Given the description of an element on the screen output the (x, y) to click on. 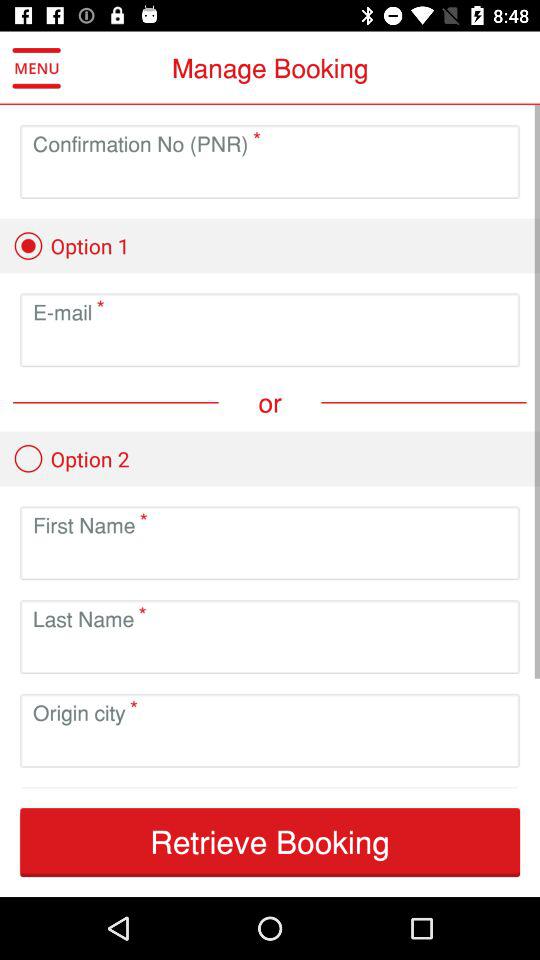
turn on option 2 (71, 458)
